Given the description of an element on the screen output the (x, y) to click on. 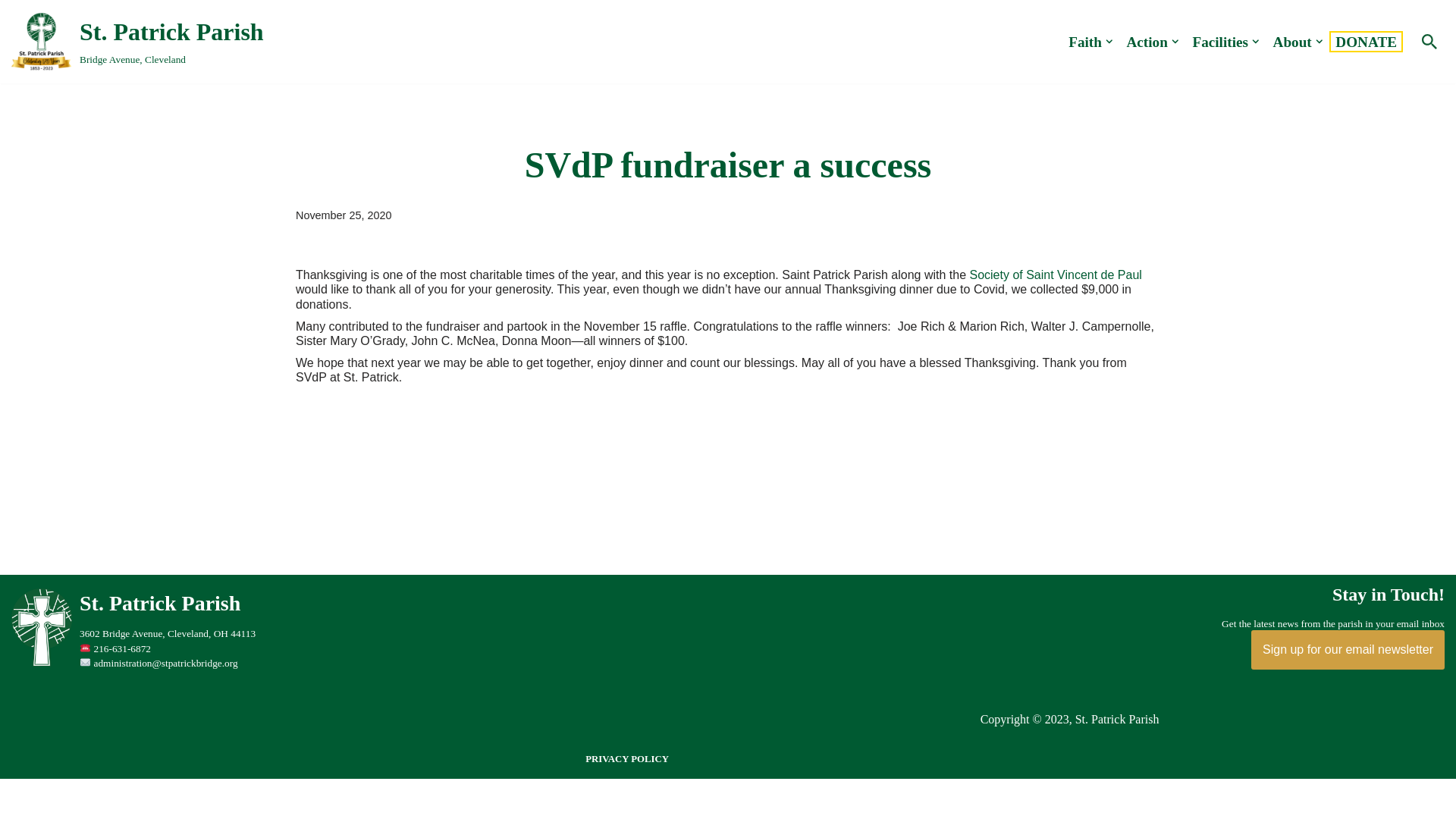
Faith (1085, 41)
Facilities (1219, 41)
St. Patrick Parish (1080, 604)
Action (1146, 41)
DONATE (1365, 41)
St. Patrick Parish (45, 662)
About (1291, 41)
Skip to content (11, 31)
St. Patrick Parish (137, 41)
